Given the description of an element on the screen output the (x, y) to click on. 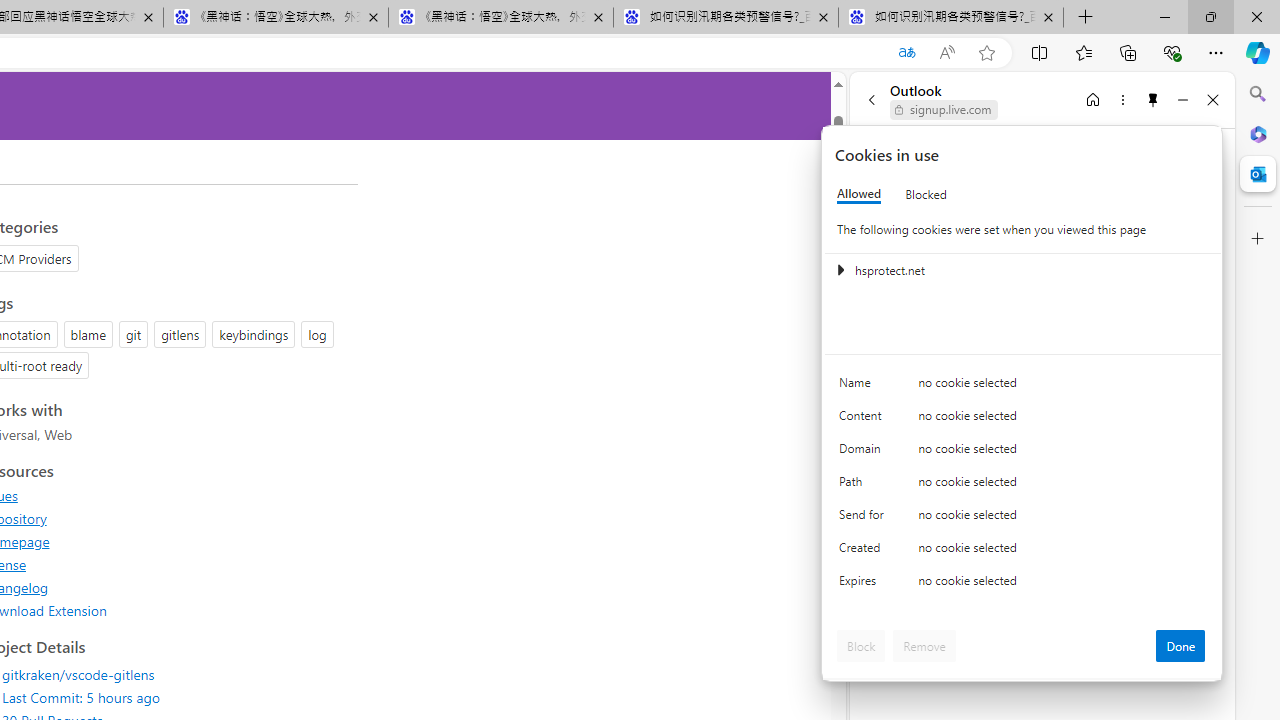
Expires (864, 585)
Remove (924, 645)
Allowed (859, 193)
Send for (864, 518)
Name (864, 387)
Blocked (925, 193)
no cookie selected (1062, 585)
Done (1179, 645)
Content (864, 420)
Domain (864, 452)
Block (861, 645)
Class: c0153 c0157 (1023, 584)
Path (864, 485)
Created (864, 552)
Class: c0153 c0157 c0154 (1023, 386)
